Given the description of an element on the screen output the (x, y) to click on. 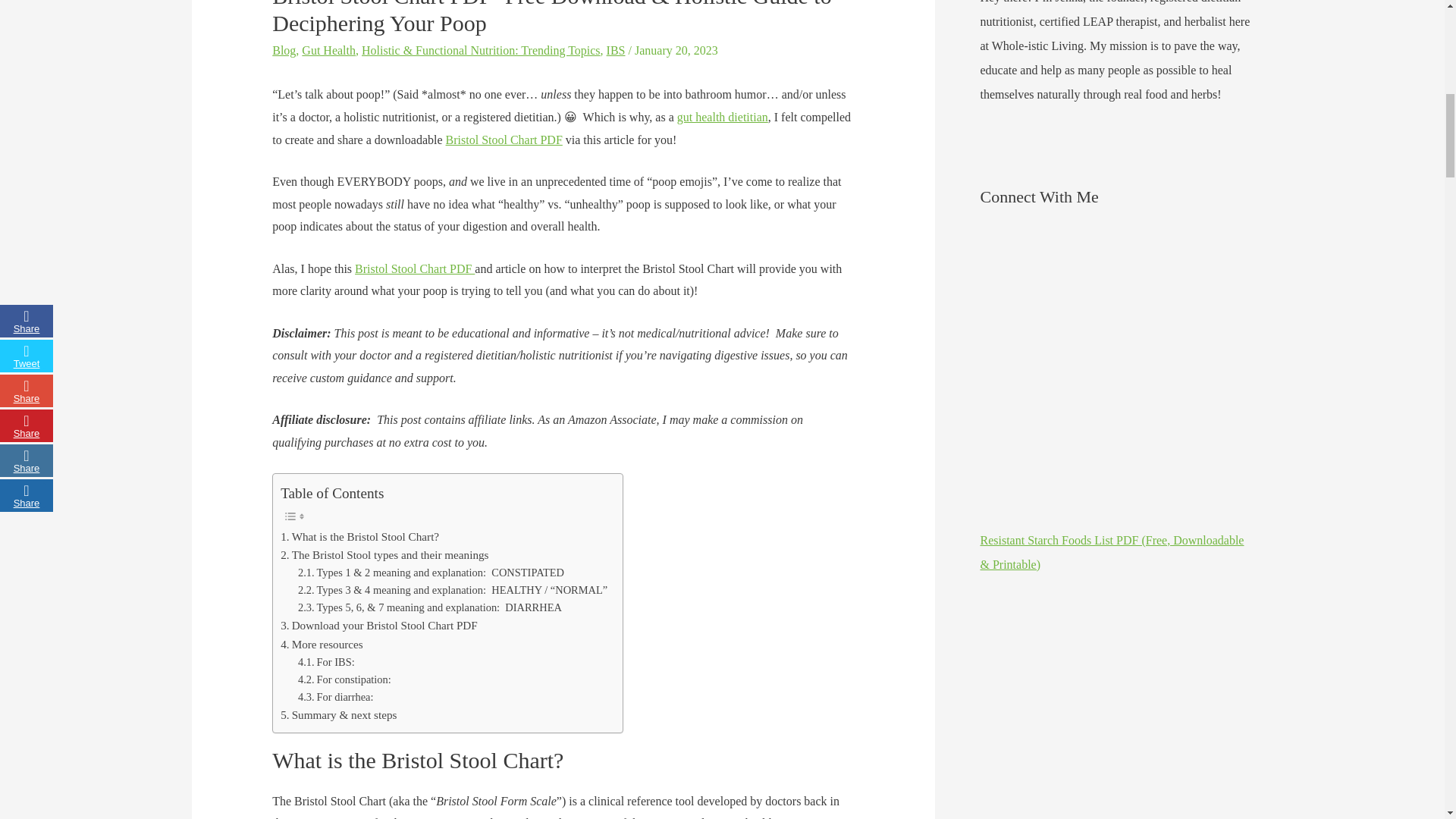
What is the Bristol Stool Chart? (360, 536)
For constipation: (344, 679)
The Bristol Stool types and their meanings (384, 555)
For diarrhea: (336, 696)
More resources (321, 644)
For IBS: (326, 661)
Download your Bristol Stool Chart PDF (379, 625)
